Given the description of an element on the screen output the (x, y) to click on. 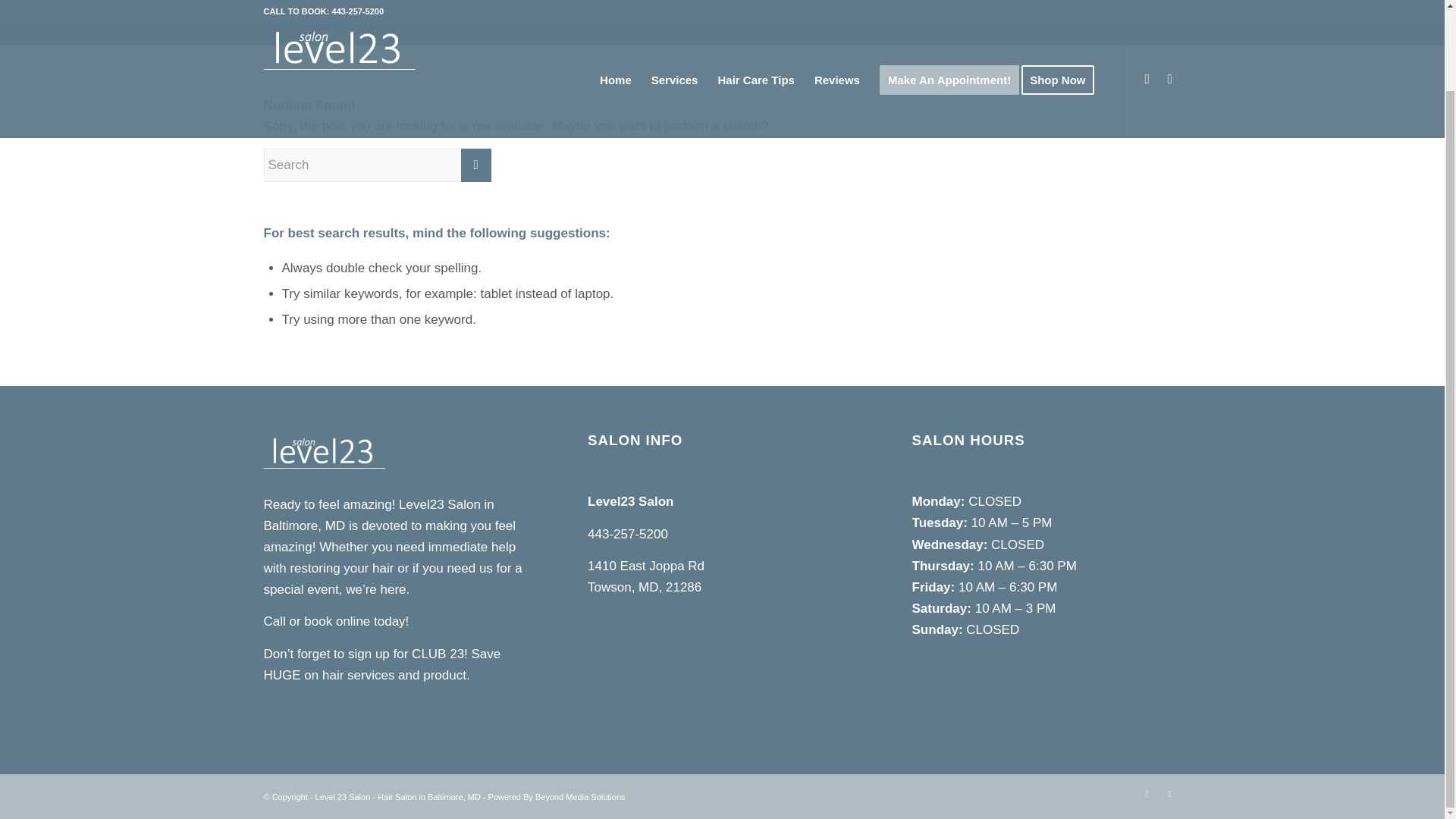
Home (615, 22)
Make An Appointment! (949, 22)
Facebook (1169, 793)
Beyond Media Solutions (580, 796)
Services (674, 22)
Reviews (837, 22)
Instagram (1146, 793)
Shop Now (1062, 22)
Hair Care Tips (755, 22)
